Given the description of an element on the screen output the (x, y) to click on. 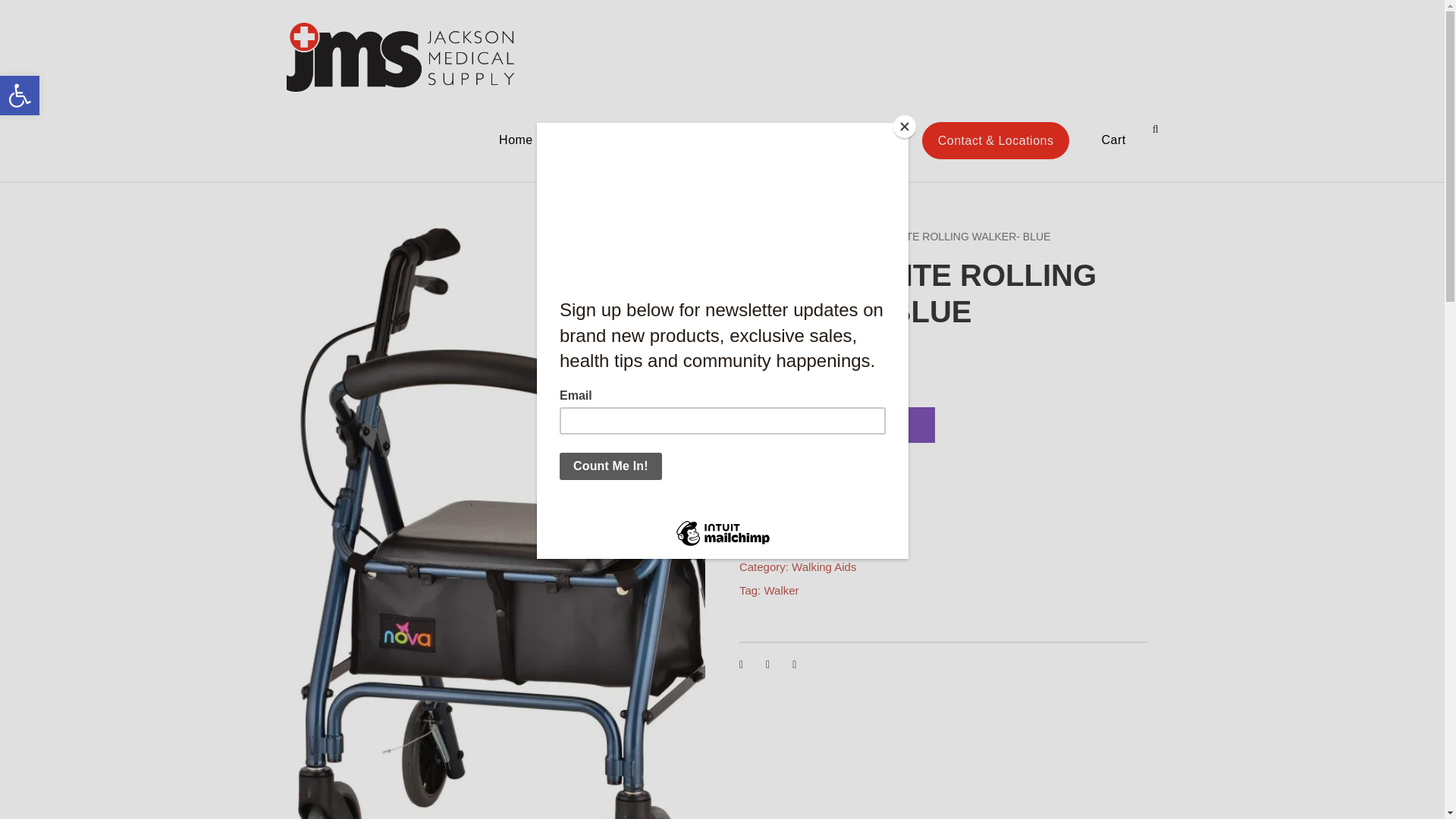
PayPal (943, 486)
1 (772, 425)
Accessibility Tools (19, 95)
Accessibility Tools (19, 95)
